Given the description of an element on the screen output the (x, y) to click on. 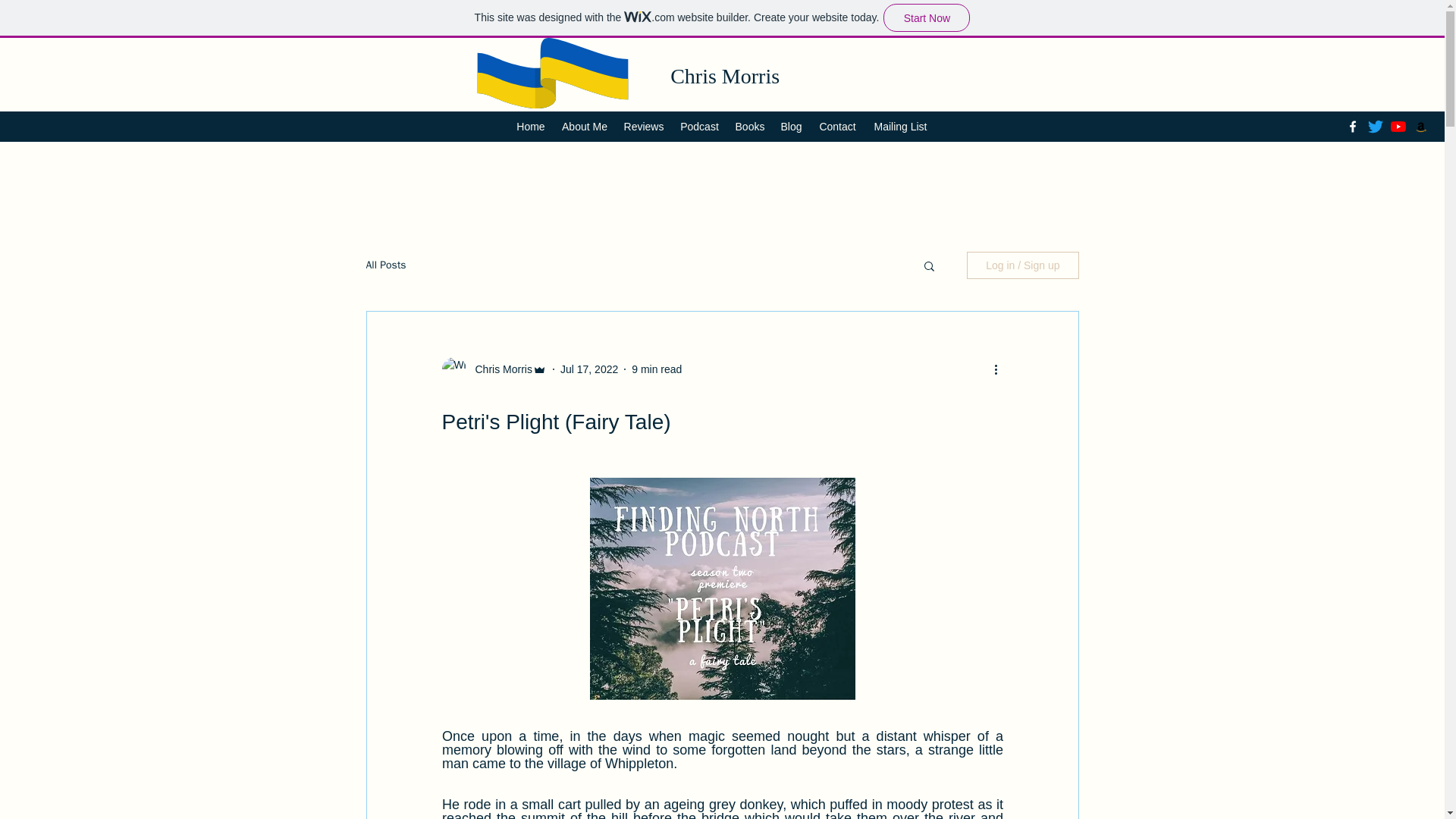
Chris Morris (498, 368)
9 min read (656, 368)
Mailing List (900, 126)
All Posts (385, 264)
Podcast (699, 126)
Reviews (643, 126)
Books (750, 126)
Blog (790, 126)
Contact (836, 126)
Jul 17, 2022 (588, 368)
Home (530, 126)
About Me (584, 126)
Chris Morris (723, 75)
